Given the description of an element on the screen output the (x, y) to click on. 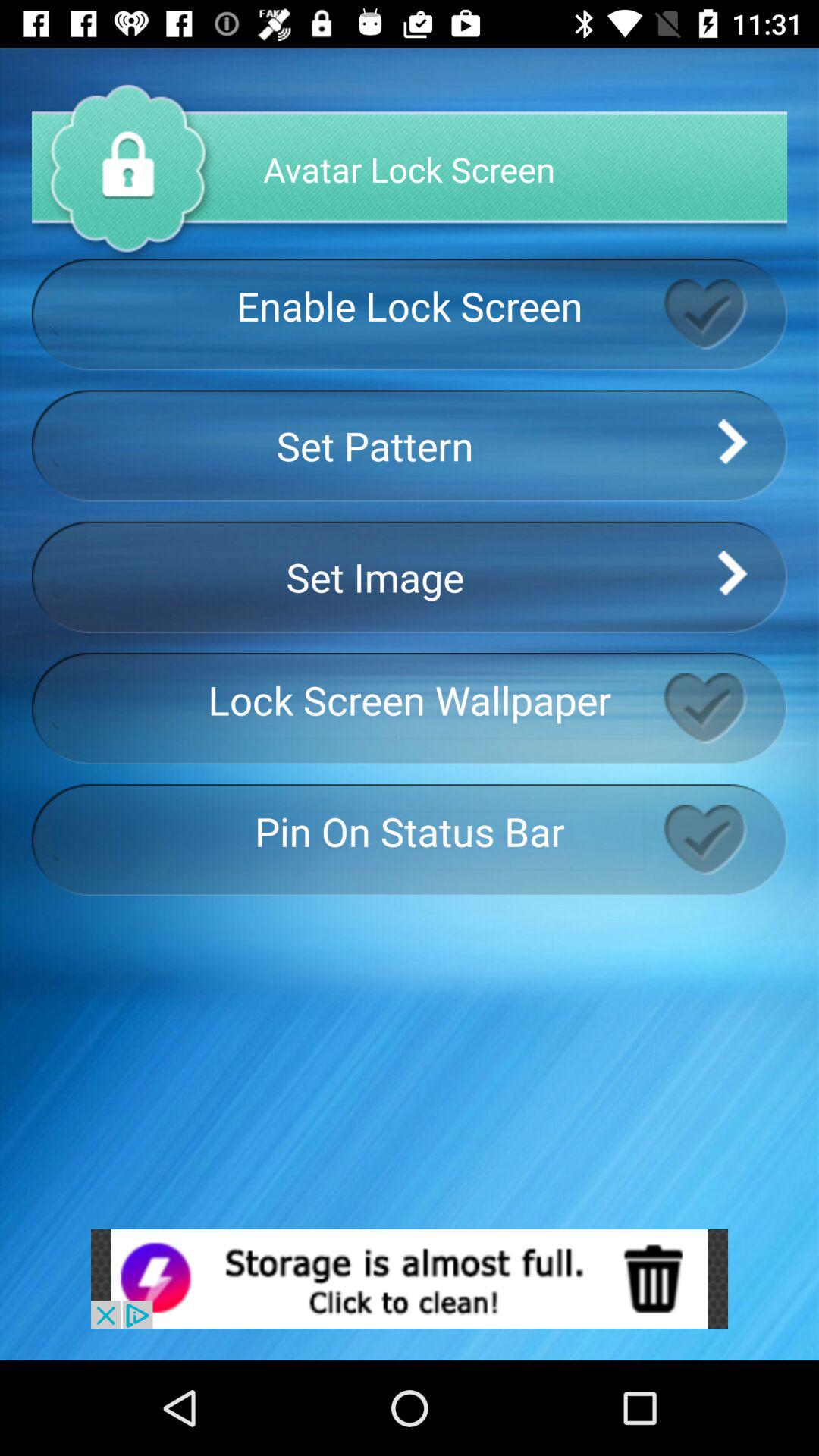
toggle screen lock (725, 314)
